Given the description of an element on the screen output the (x, y) to click on. 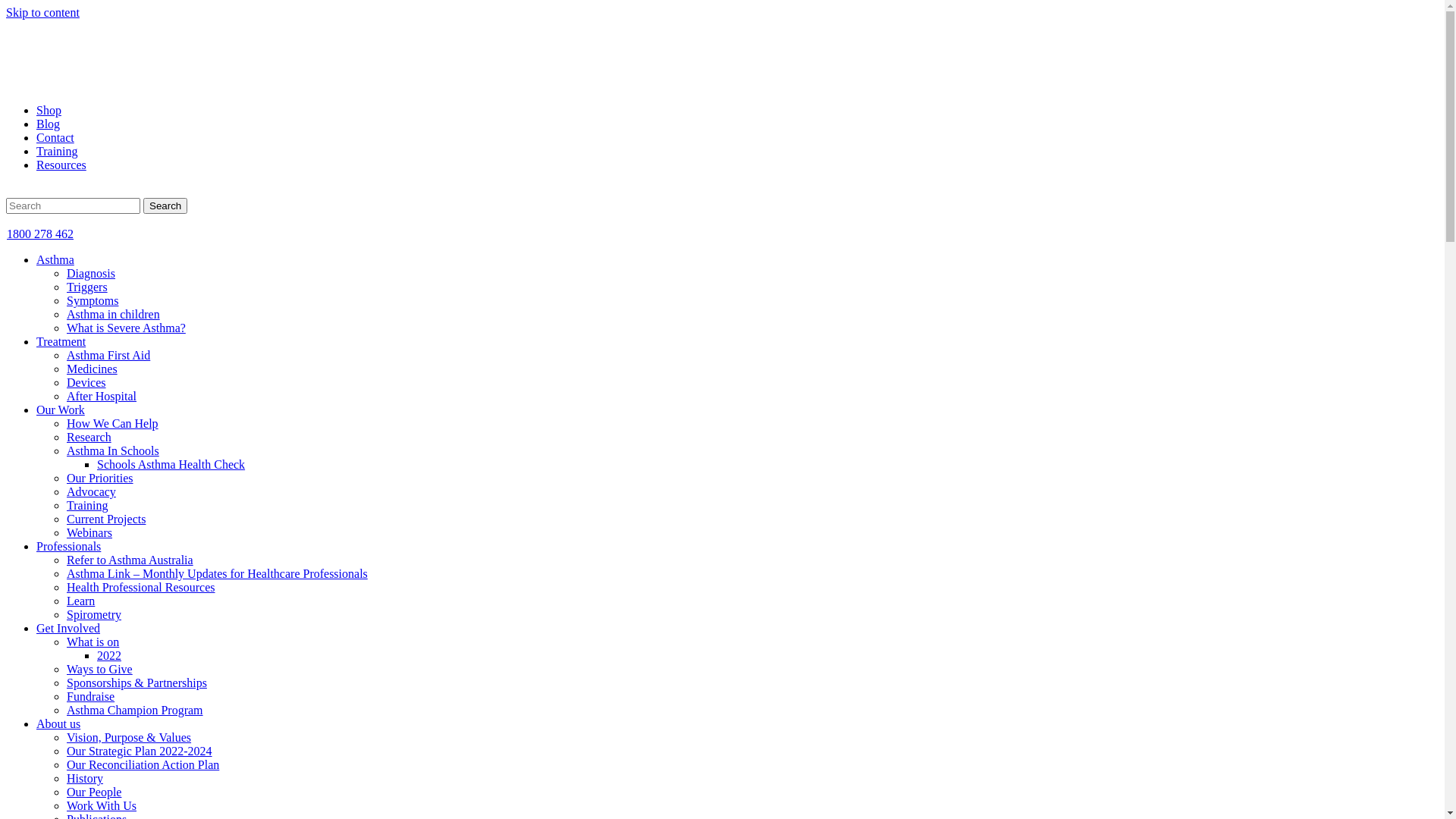
Schools Asthma Health Check Element type: text (170, 464)
What is Severe Asthma? Element type: text (125, 327)
Advocacy Element type: text (91, 491)
Research Element type: text (88, 436)
Skip to content Element type: text (42, 12)
Get Involved Element type: text (68, 627)
Our Strategic Plan 2022-2024 Element type: text (139, 750)
Treatment Element type: text (60, 341)
Shop Element type: text (48, 109)
Ways to Give Element type: text (99, 668)
Asthma in children Element type: text (113, 313)
Health Professional Resources Element type: text (140, 586)
Asthma In Schools Element type: text (112, 450)
Vision, Purpose & Values Element type: text (128, 737)
About us Element type: text (58, 723)
Our Priorities Element type: text (99, 477)
After Hospital Element type: text (101, 395)
Refer to Asthma Australia Element type: text (129, 559)
Asthma Element type: text (55, 259)
Our People Element type: text (93, 791)
Triggers Element type: text (86, 286)
Fundraise Element type: text (90, 696)
1800 278 462 Element type: text (39, 233)
How We Can Help Element type: text (112, 423)
Symptoms Element type: text (92, 300)
Asthma First Aid Element type: text (108, 354)
History Element type: text (84, 777)
Training Element type: text (57, 150)
Diagnosis Element type: text (90, 272)
Search Element type: text (165, 205)
Webinars Element type: text (89, 532)
Current Projects Element type: text (105, 518)
Medicines Element type: text (91, 368)
Spirometry Element type: text (93, 614)
Our Work Element type: text (60, 409)
Blog Element type: text (47, 123)
Sponsorships & Partnerships Element type: text (136, 682)
Work With Us Element type: text (101, 805)
Learn Element type: text (80, 600)
Training Element type: text (87, 504)
Resources Element type: text (61, 164)
Contact Element type: text (55, 137)
2022 Element type: text (109, 655)
Asthma Champion Program Element type: text (134, 709)
What is on Element type: text (92, 641)
Professionals Element type: text (68, 545)
Our Reconciliation Action Plan Element type: text (142, 764)
Devices Element type: text (86, 382)
